Given the description of an element on the screen output the (x, y) to click on. 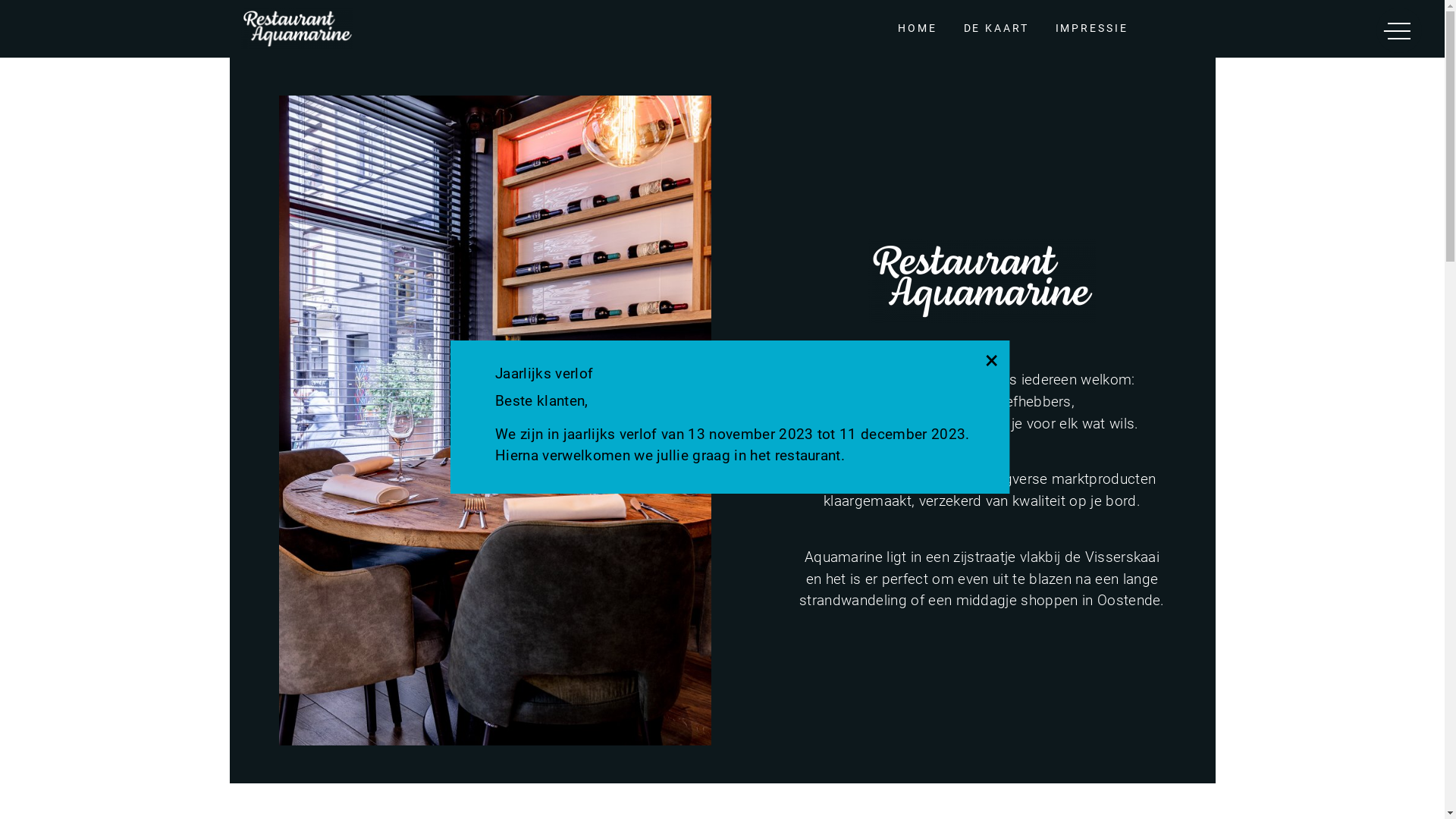
IMPRESSIE Element type: text (1091, 28)
DE KAART Element type: text (996, 28)
HOME Element type: text (917, 28)
